Given the description of an element on the screen output the (x, y) to click on. 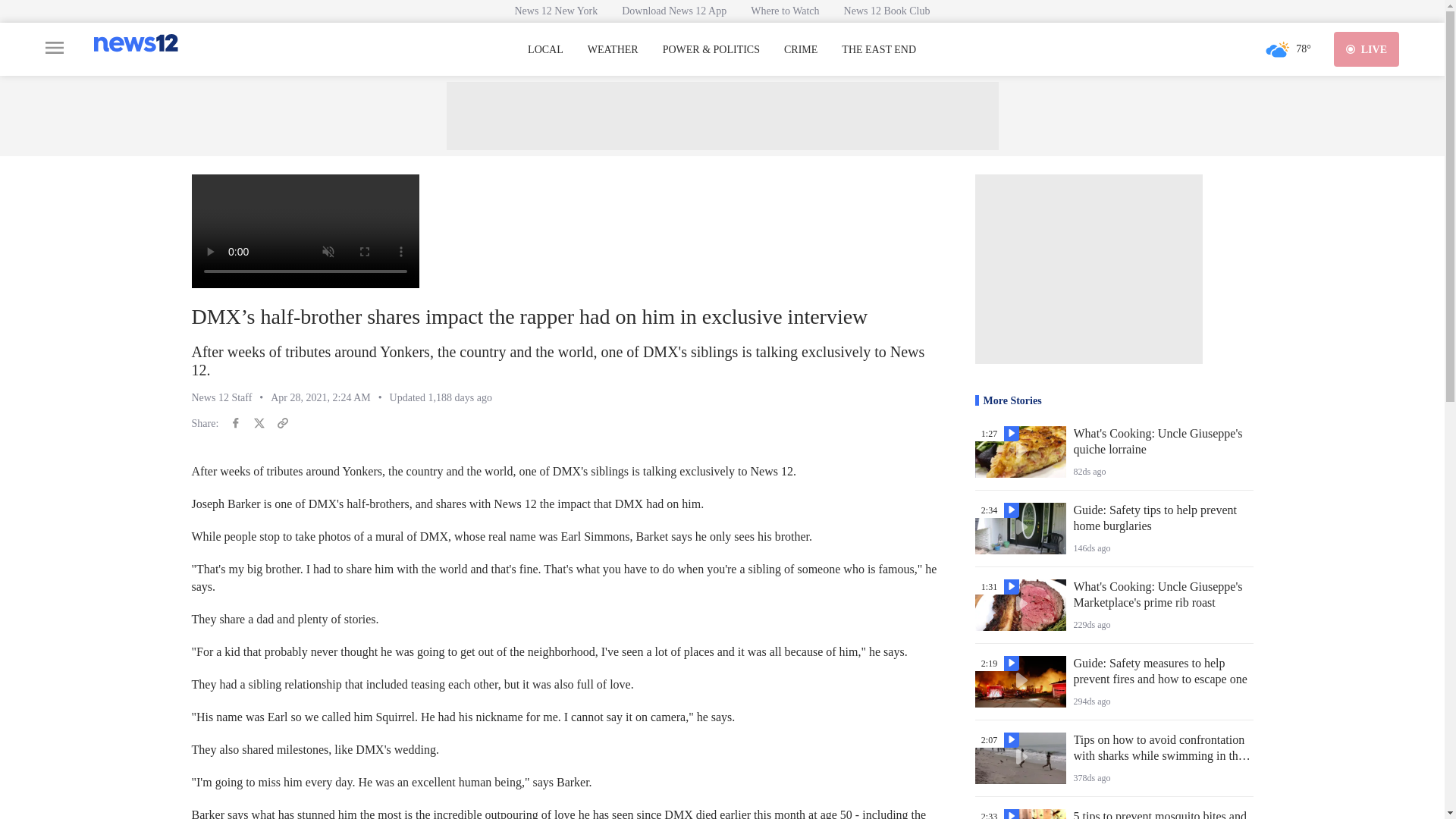
Mostly Cloudy (1277, 48)
LOCAL (545, 49)
THE EAST END (878, 49)
LIVE (1366, 48)
News 12 Book Club (886, 11)
Download News 12 App (673, 11)
WEATHER (613, 49)
Where to Watch (784, 11)
News 12 New York (556, 11)
CRIME (800, 49)
